Given the description of an element on the screen output the (x, y) to click on. 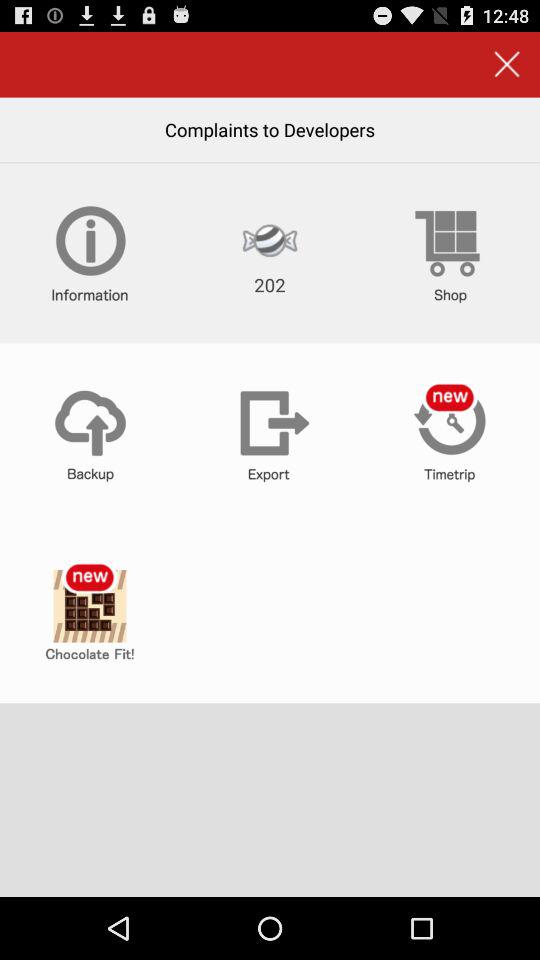
more information (90, 253)
